Given the description of an element on the screen output the (x, y) to click on. 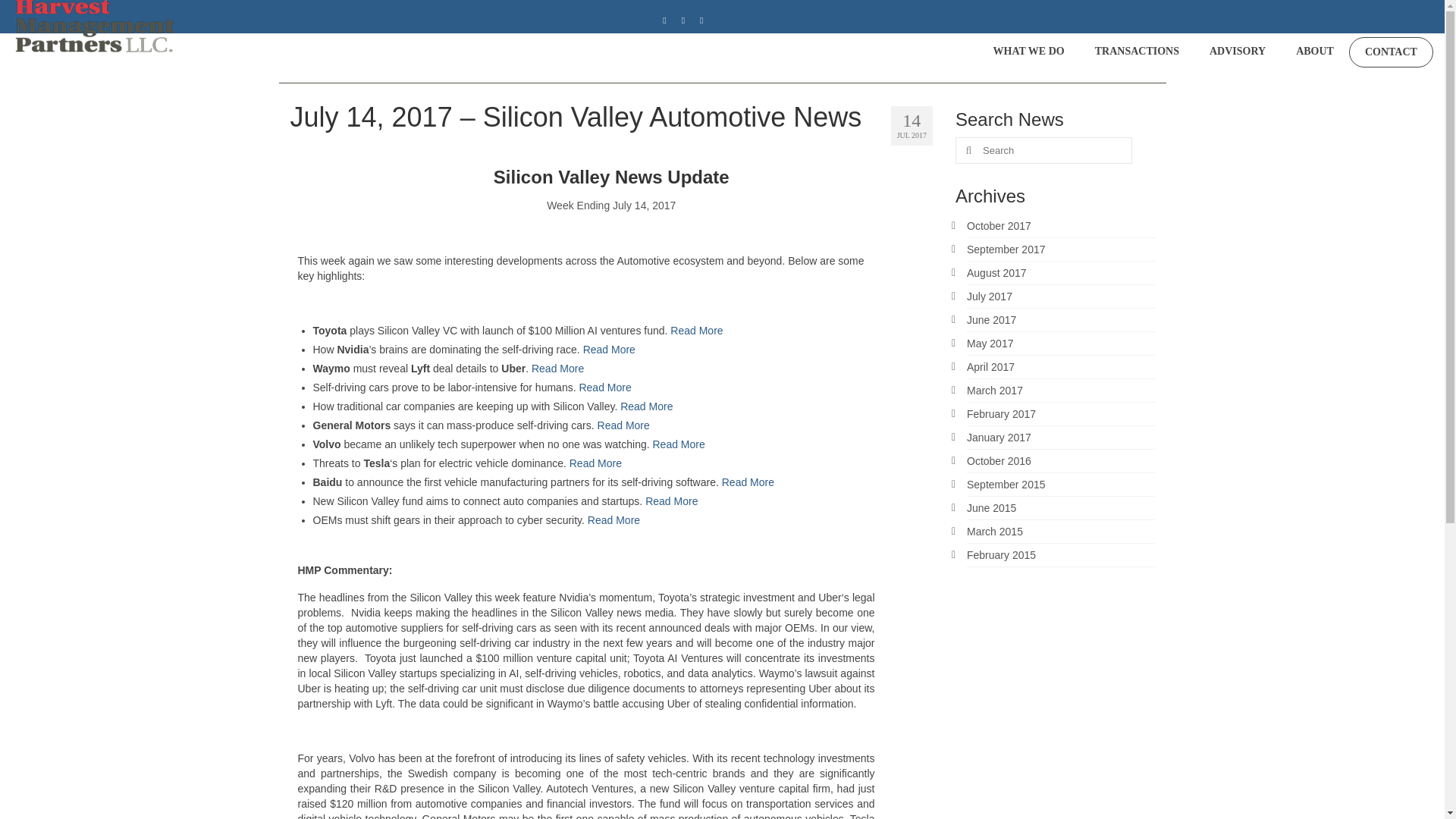
CONTACT (1390, 51)
Read More (678, 444)
Read More (622, 425)
Read More (608, 349)
ABOUT (1315, 51)
TRANSACTIONS (1136, 51)
Read More (646, 406)
WHAT WE DO (1029, 51)
Read More (557, 368)
Read More (695, 330)
